Given the description of an element on the screen output the (x, y) to click on. 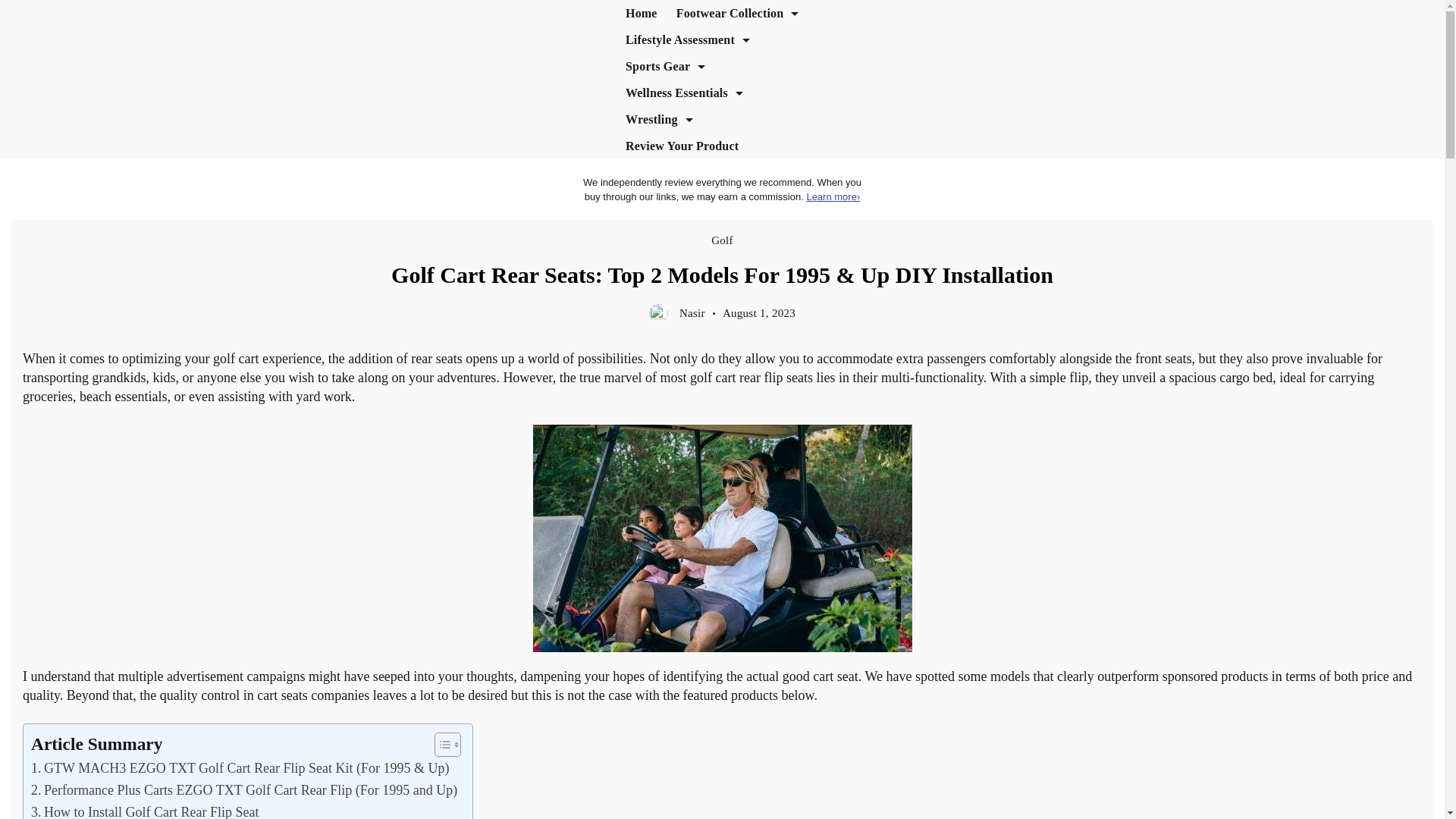
Review Your Product (681, 145)
Wellness Essentials (683, 92)
Home (640, 13)
Footwear Collection (737, 13)
Lifestyle Assessment (686, 39)
Wrestling (658, 119)
How to Install Golf Cart Rear Flip Seat (144, 810)
Sports Gear (664, 66)
